Given the description of an element on the screen output the (x, y) to click on. 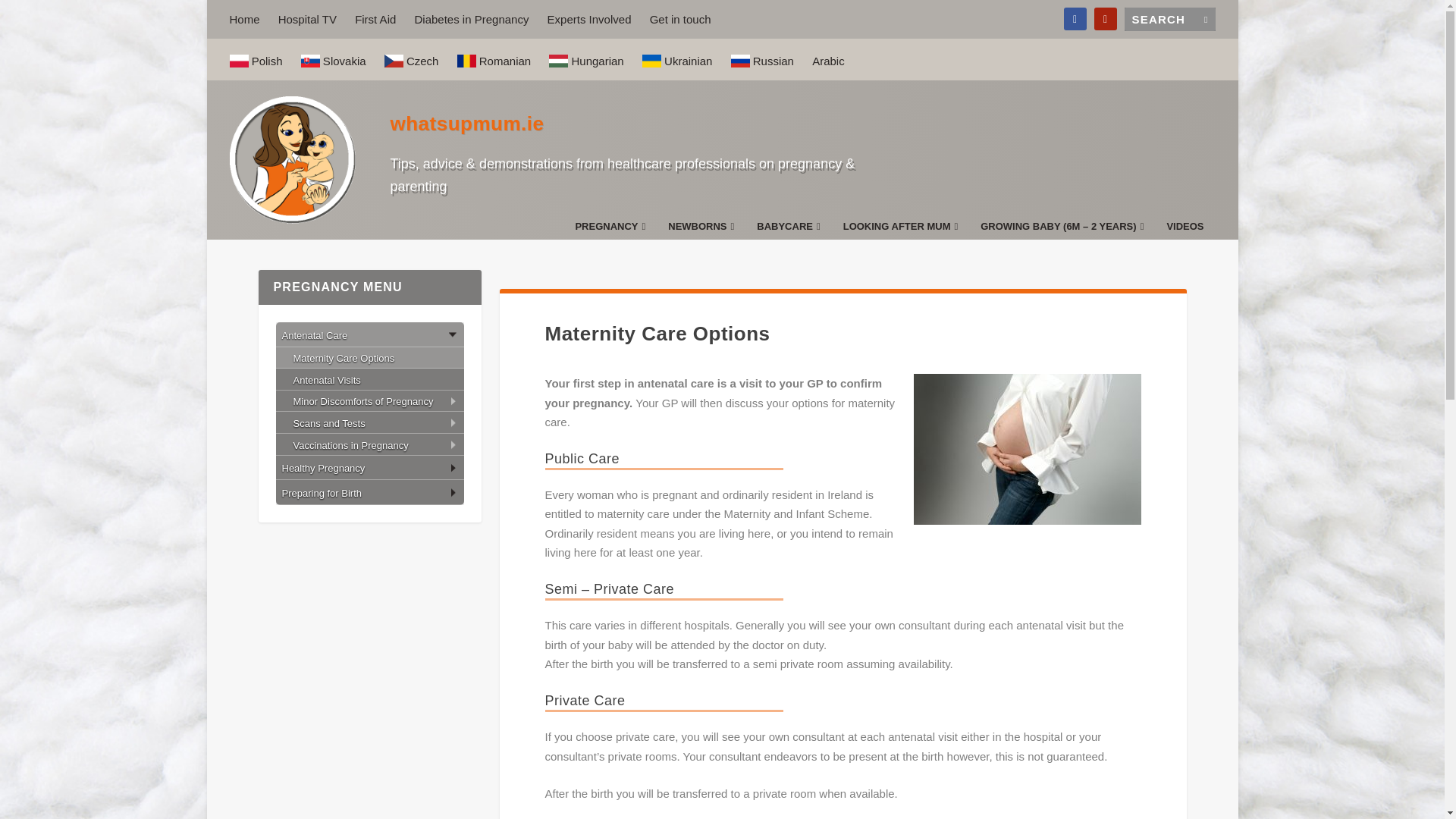
Russian (761, 59)
First Aid (375, 19)
Slovakia (333, 59)
Ukrainian (677, 59)
Hospital TV (307, 19)
Get in touch (680, 19)
Polish (255, 59)
Diabetes in Pregnancy (470, 19)
NEWBORNS (700, 229)
Romanian (494, 59)
LOOKING AFTER MUM (900, 229)
PREGNANCY (610, 229)
Arabic (828, 60)
Hungarian (585, 59)
Czech (411, 59)
